Given the description of an element on the screen output the (x, y) to click on. 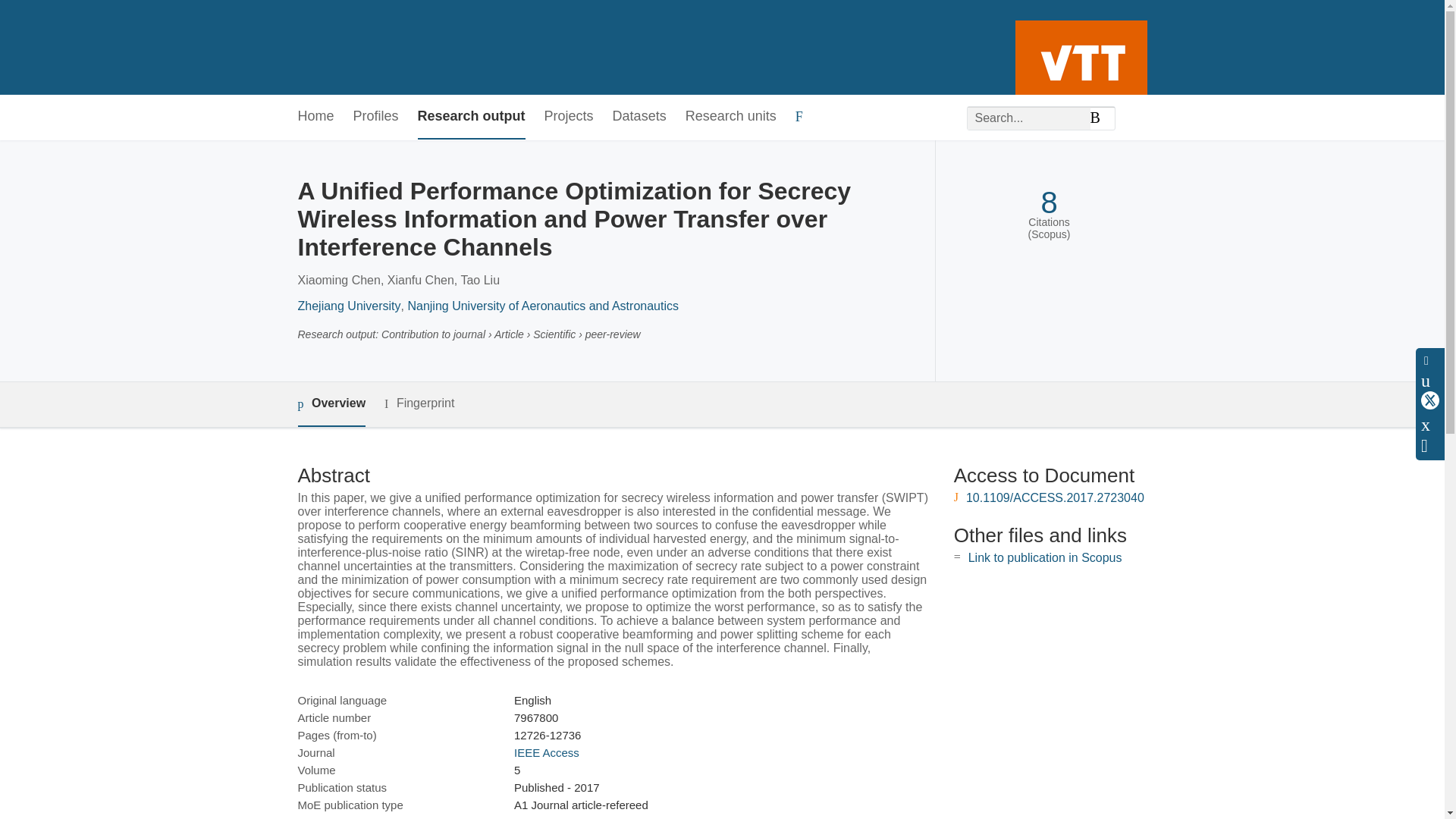
Link to publication in Scopus (1045, 557)
VTT's Research Information Portal Home (322, 47)
Projects (569, 117)
Zhejiang University (348, 305)
Fingerprint (419, 403)
Research units (730, 117)
IEEE Access (546, 752)
Datasets (639, 117)
Profiles (375, 117)
Overview (331, 404)
Research output (471, 117)
Nanjing University of Aeronautics and Astronautics (542, 305)
